Given the description of an element on the screen output the (x, y) to click on. 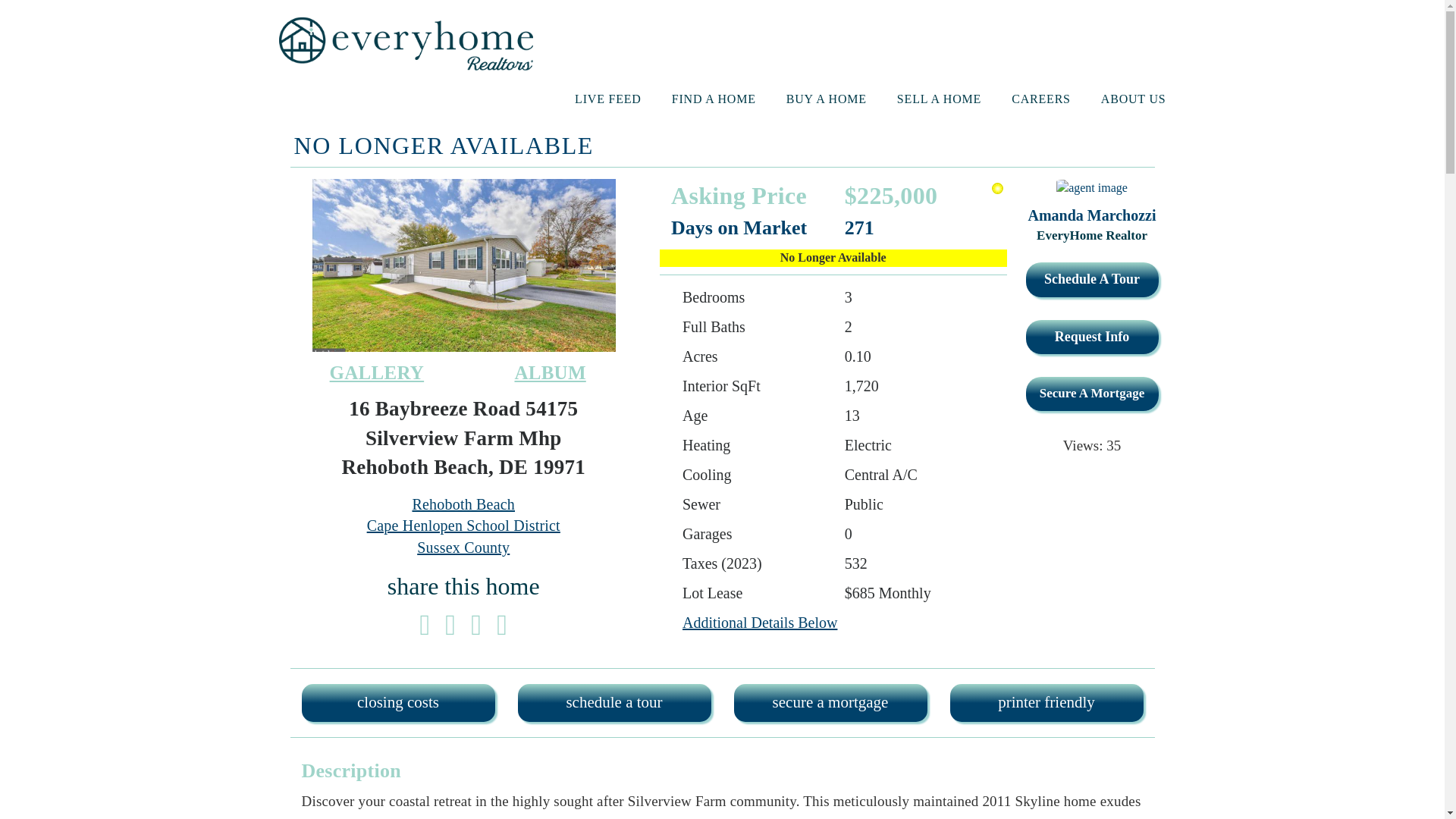
FIND A HOME (713, 99)
BUY A HOME (826, 99)
CAREERS (1040, 99)
SELL A HOME (938, 99)
ABOUT US (1133, 99)
LIVE FEED (608, 99)
